Given the description of an element on the screen output the (x, y) to click on. 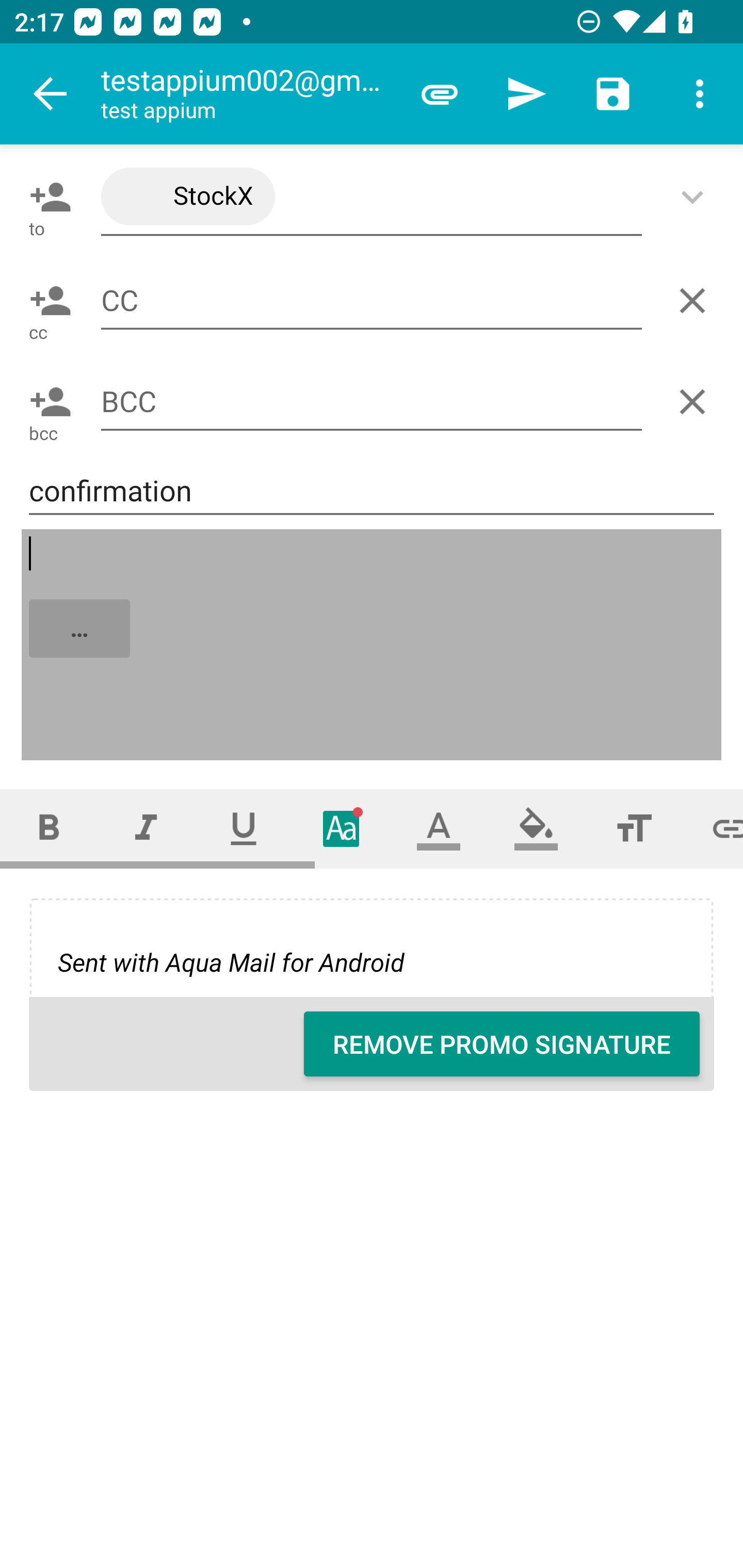
Navigate up (50, 93)
testappium002@gmail.com test appium (248, 93)
Attach (439, 93)
Send (525, 93)
Save (612, 93)
More options (699, 93)
StockX <noreply@stockx.com>,  (371, 197)
Pick contact: To (46, 196)
Show/Add CC/BCC (696, 196)
Pick contact: CC (46, 300)
Delete (696, 300)
CC (371, 300)
Pick contact: BCC (46, 401)
Delete (696, 401)
BCC (371, 402)
confirmation (371, 490)

…
 (372, 645)
Bold (48, 828)
Italic (145, 828)
Underline (243, 828)
Typeface (font) (341, 828)
Text color (438, 828)
Fill color (536, 828)
Font size (633, 828)
REMOVE PROMO SIGNATURE (501, 1044)
